Given the description of an element on the screen output the (x, y) to click on. 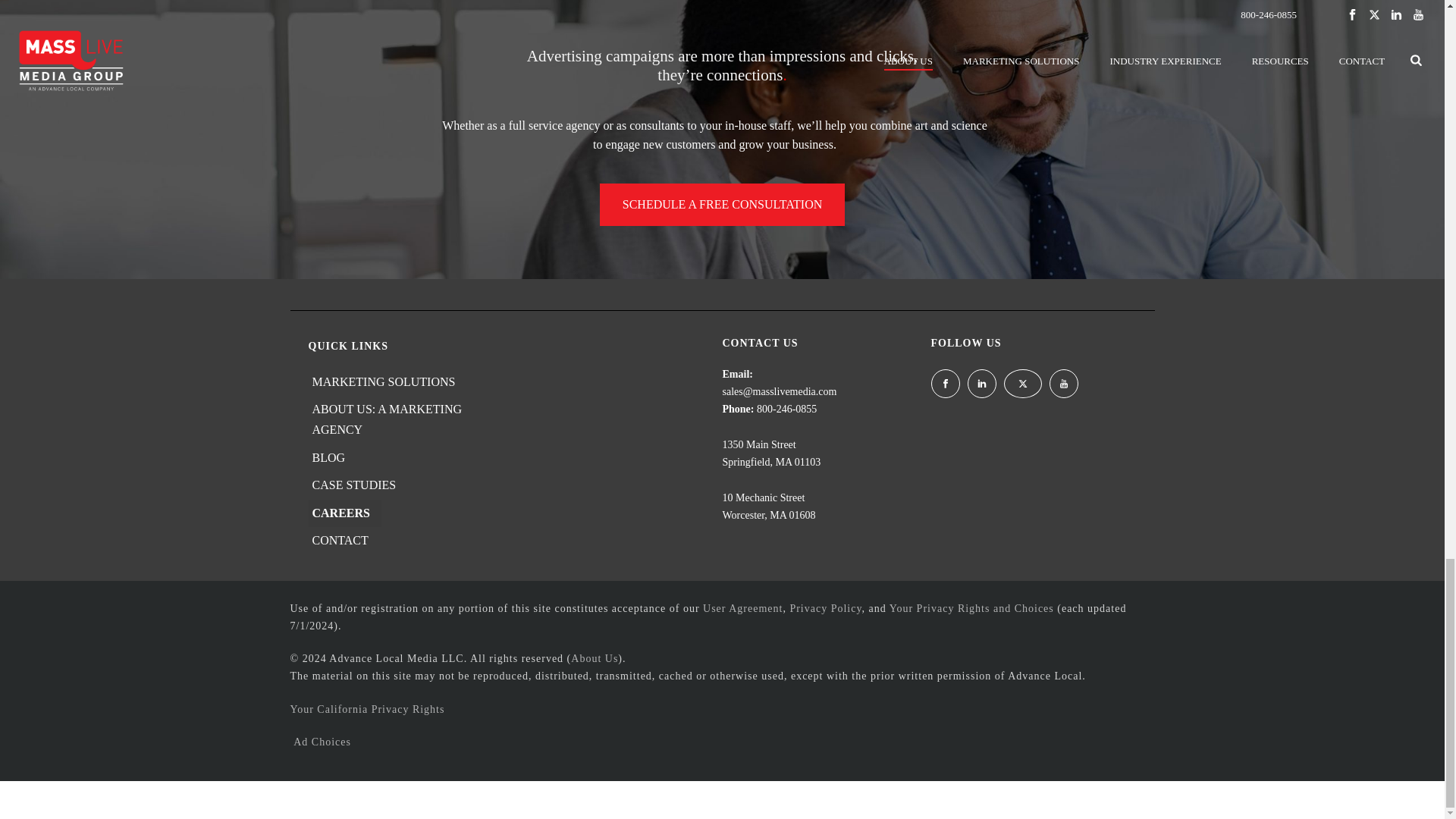
Follow Us on linkedin (981, 383)
Follow Us on facebook (945, 383)
Follow Us on twitter (1023, 383)
Follow Us on youtube (1063, 383)
